Given the description of an element on the screen output the (x, y) to click on. 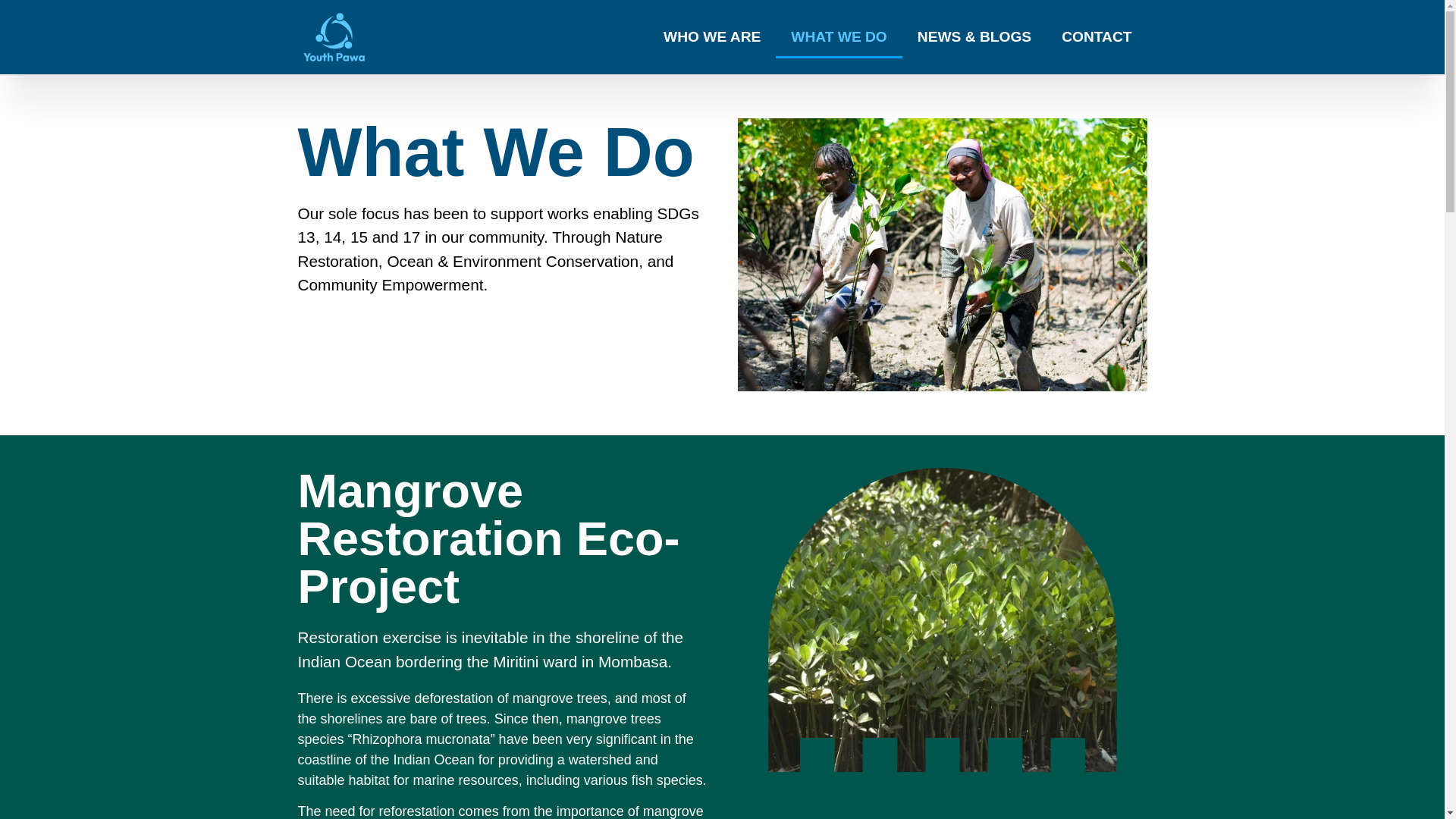
WHAT WE DO (838, 36)
CONTACT (1096, 36)
WHO WE ARE (711, 36)
